Given the description of an element on the screen output the (x, y) to click on. 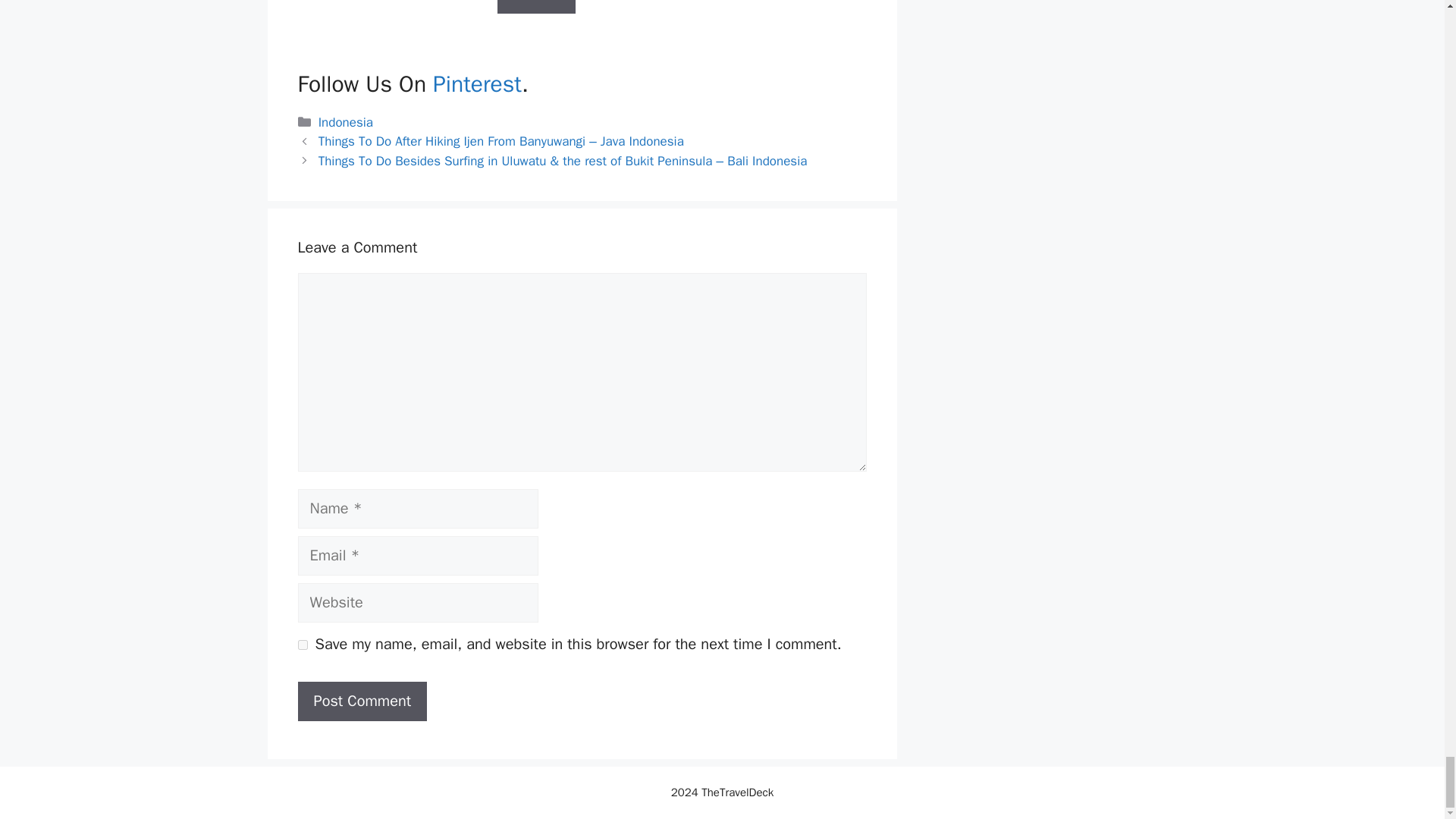
Pinterest (476, 83)
Post Comment (361, 701)
Submit (536, 6)
Post Comment (361, 701)
Submit (536, 6)
yes (302, 644)
Indonesia (345, 122)
